Given the description of an element on the screen output the (x, y) to click on. 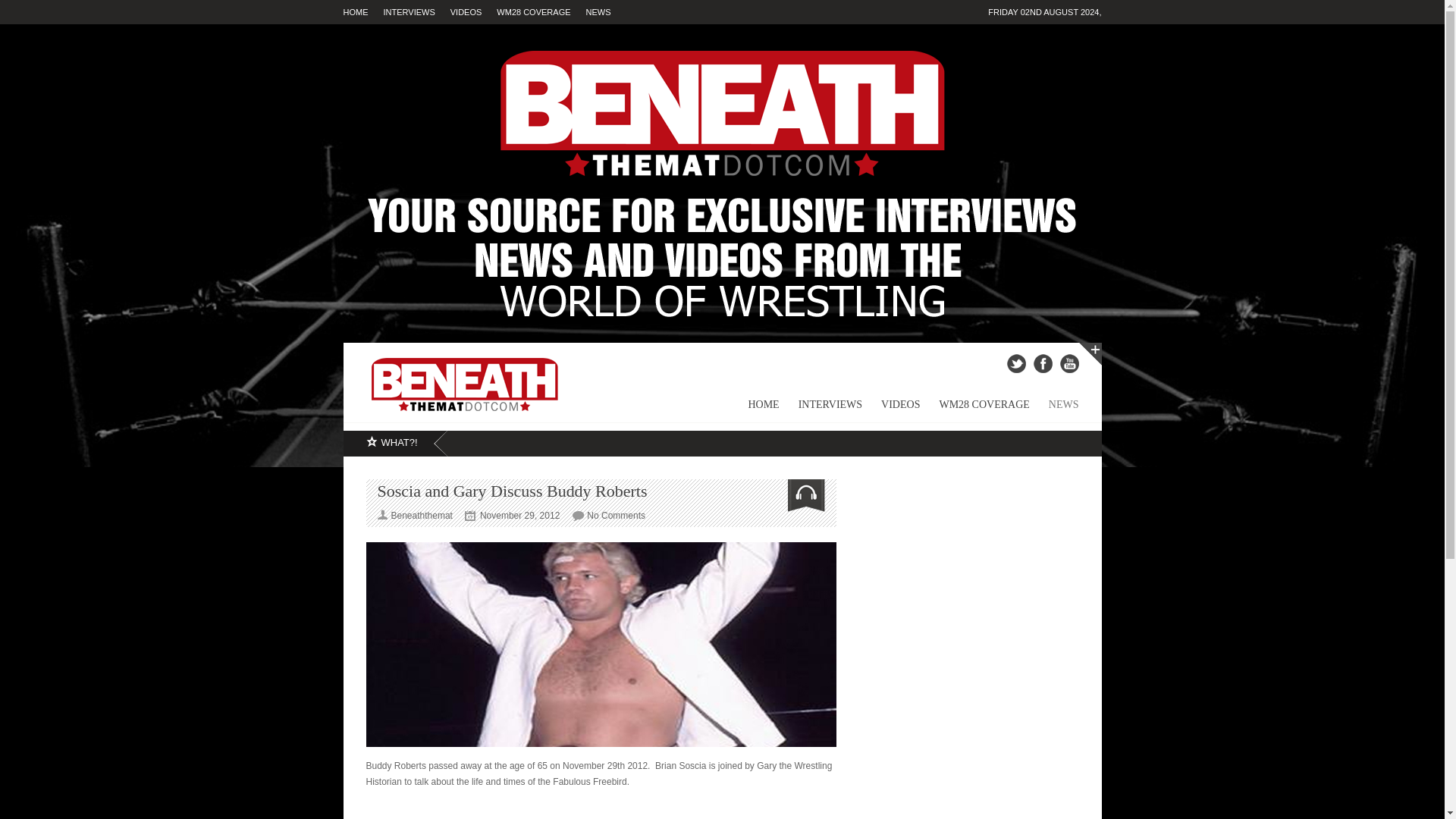
INTERVIEWS (819, 409)
Comment on Soscia and Gary Discuss Buddy Roberts (615, 515)
NEWS (606, 12)
WM28 COVERAGE (540, 12)
WM28 COVERAGE (974, 409)
YouTube video player (600, 807)
INTERVIEWS (416, 12)
HOME (362, 12)
VIDEOS (473, 12)
No Comments (615, 515)
NEWS (1053, 409)
VIDEOS (890, 409)
HOME (753, 409)
